Given the description of an element on the screen output the (x, y) to click on. 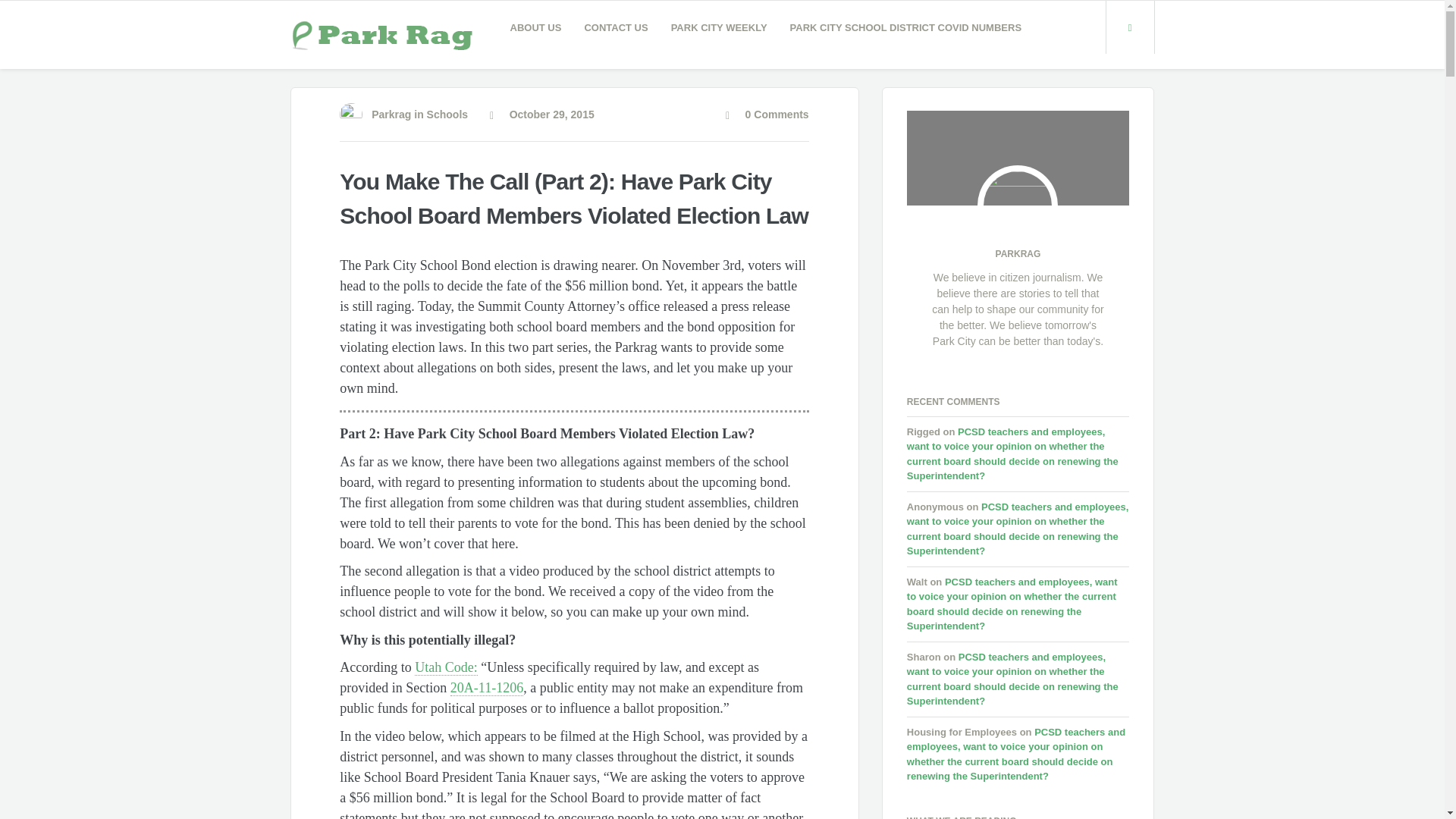
ABOUT US (536, 27)
PARK CITY WEEKLY (718, 27)
Utah Code: (445, 667)
CONTACT US (615, 27)
PARK CITY SCHOOL DISTRICT COVID NUMBERS (905, 27)
Schools (446, 114)
Parkrag (390, 114)
20A-11-1206 (485, 688)
  October 29, 2015 (541, 114)
  0 Comments (767, 114)
